Given the description of an element on the screen output the (x, y) to click on. 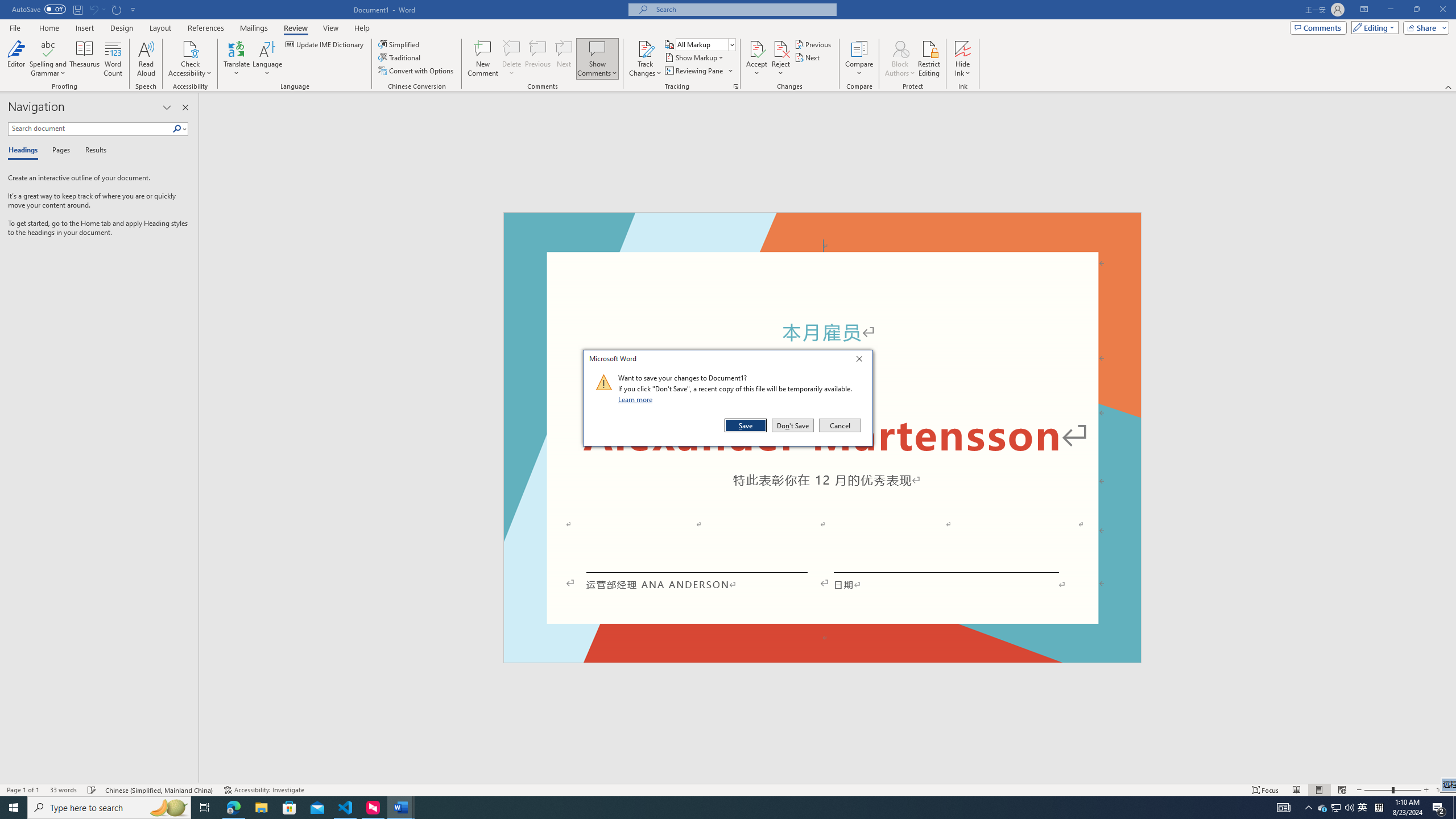
Delete (511, 58)
Convert with Options... (417, 69)
AutomationID: 4105 (1283, 807)
Search highlights icon opens search home window (167, 807)
Customize Quick Access Toolbar (133, 9)
Close pane (185, 107)
Next (808, 56)
Reject and Move to Next (780, 48)
Zoom 100% (1443, 790)
Learn more (636, 399)
Running applications (700, 807)
Hide Ink (962, 58)
